Given the description of an element on the screen output the (x, y) to click on. 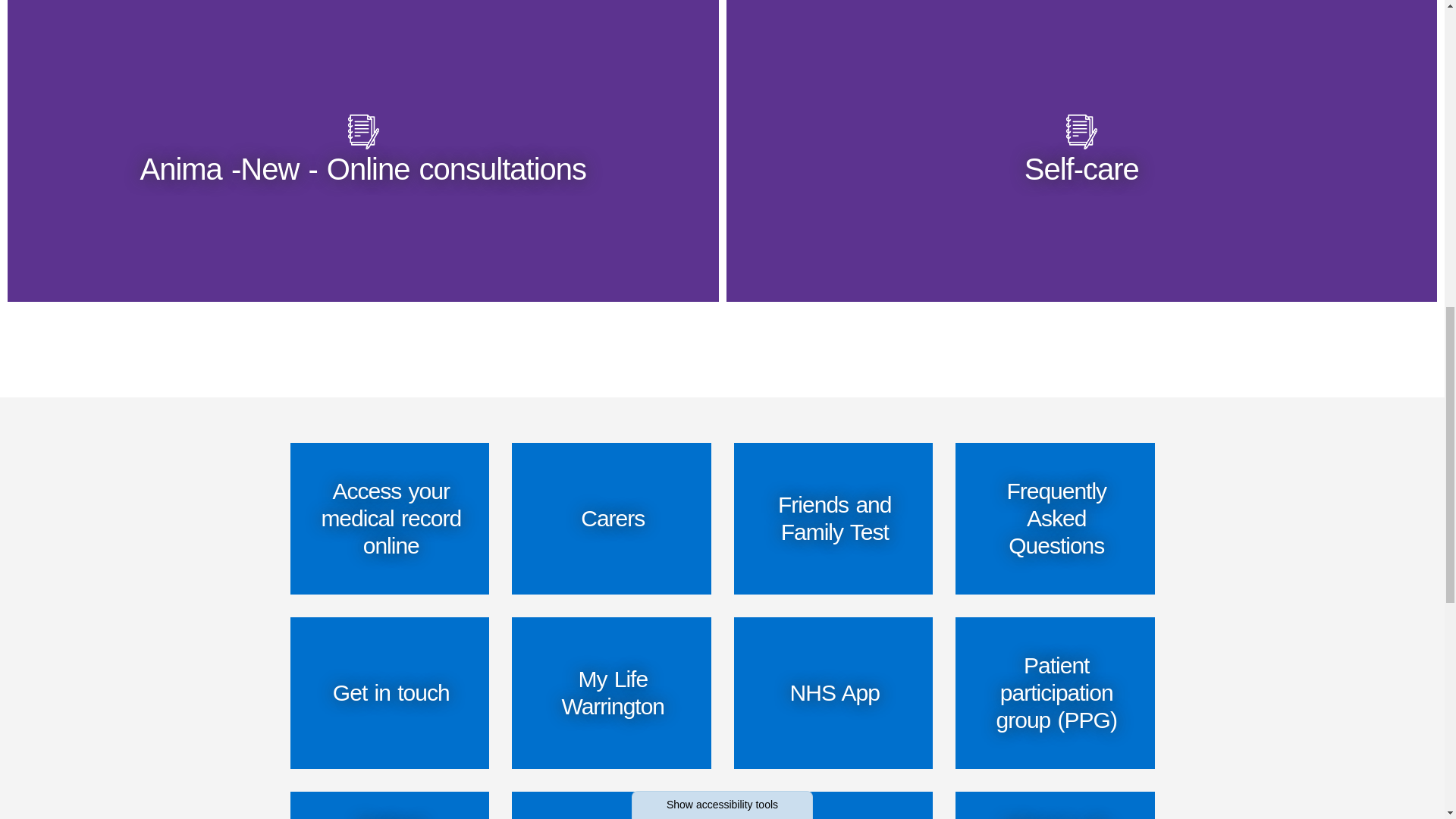
Friends and Family Test (833, 518)
Update your details (833, 805)
NHS App (833, 693)
Carers (611, 518)
Access your medical record online (389, 518)
My Life Warrington (611, 693)
What to do when GP surgery is closed (1054, 805)
Test results (611, 805)
